Given the description of an element on the screen output the (x, y) to click on. 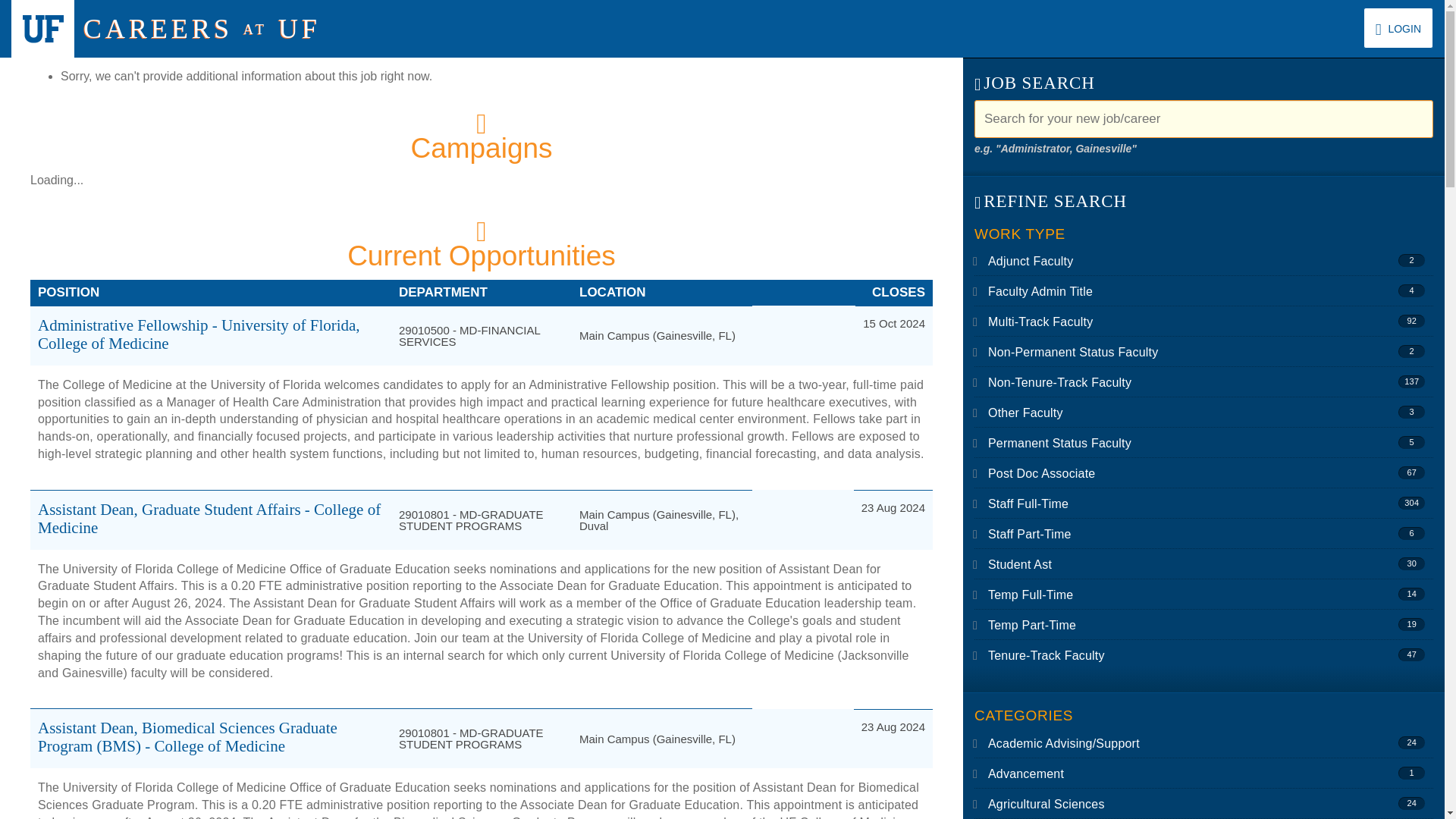
CAREERS AT UF (201, 28)
LOGIN (1397, 27)
